Given the description of an element on the screen output the (x, y) to click on. 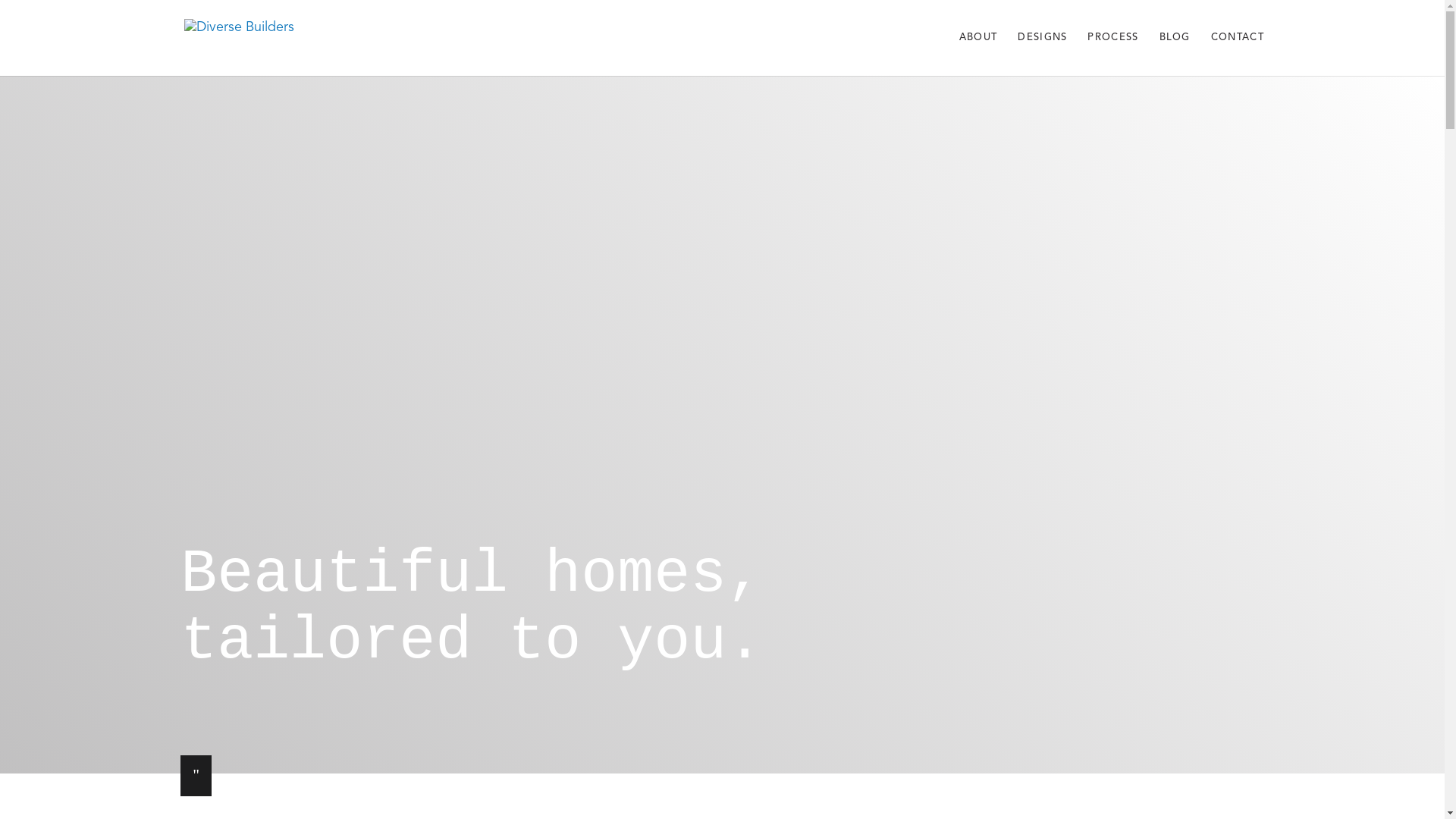
BLOG Element type: text (1174, 53)
ABOUT Element type: text (978, 53)
CONTACT Element type: text (1237, 53)
" Element type: text (195, 775)
DESIGNS Element type: text (1041, 53)
PROCESS Element type: text (1112, 53)
